Given the description of an element on the screen output the (x, y) to click on. 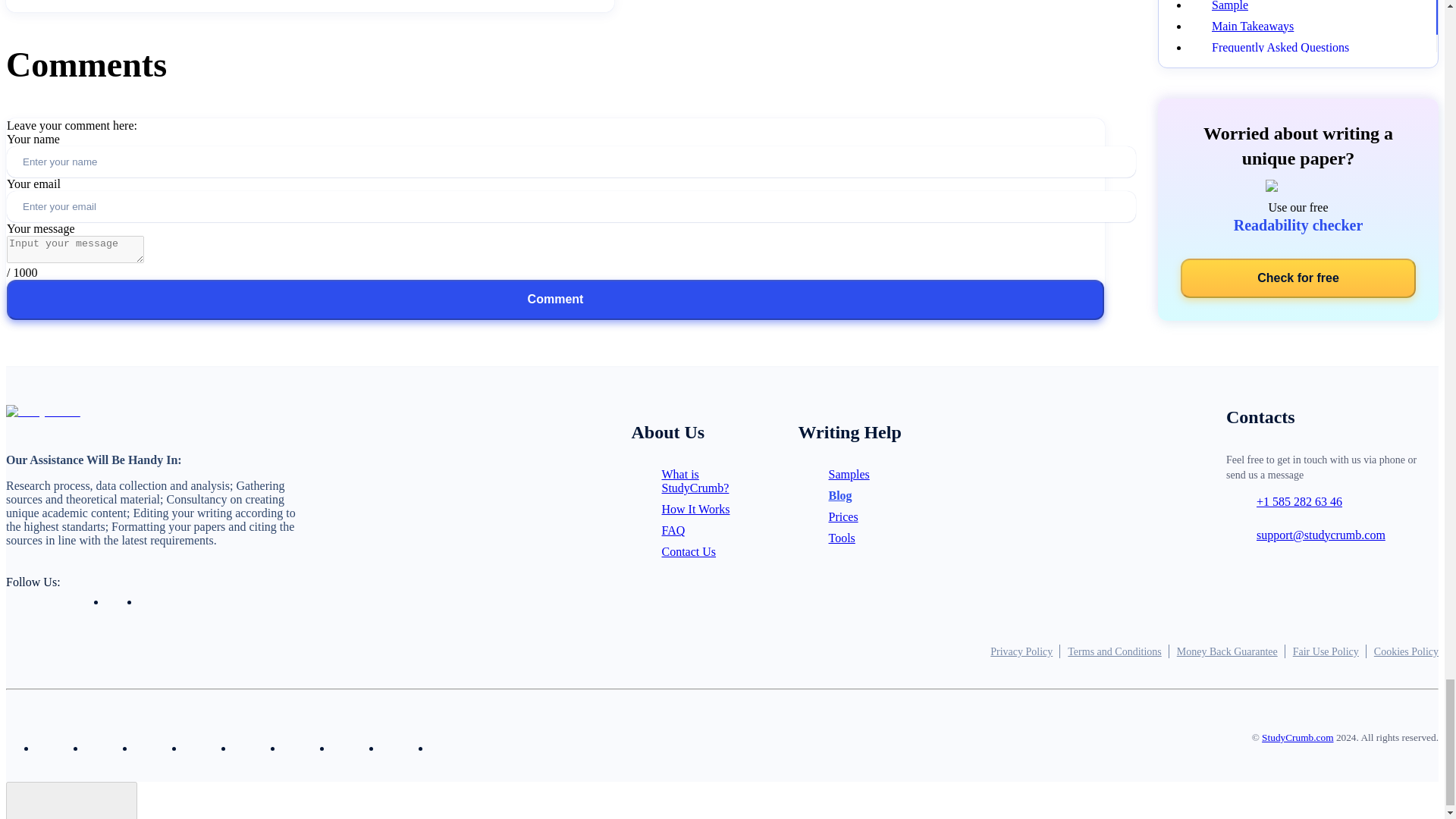
DMCA.com Protection Status (859, 737)
